Given the description of an element on the screen output the (x, y) to click on. 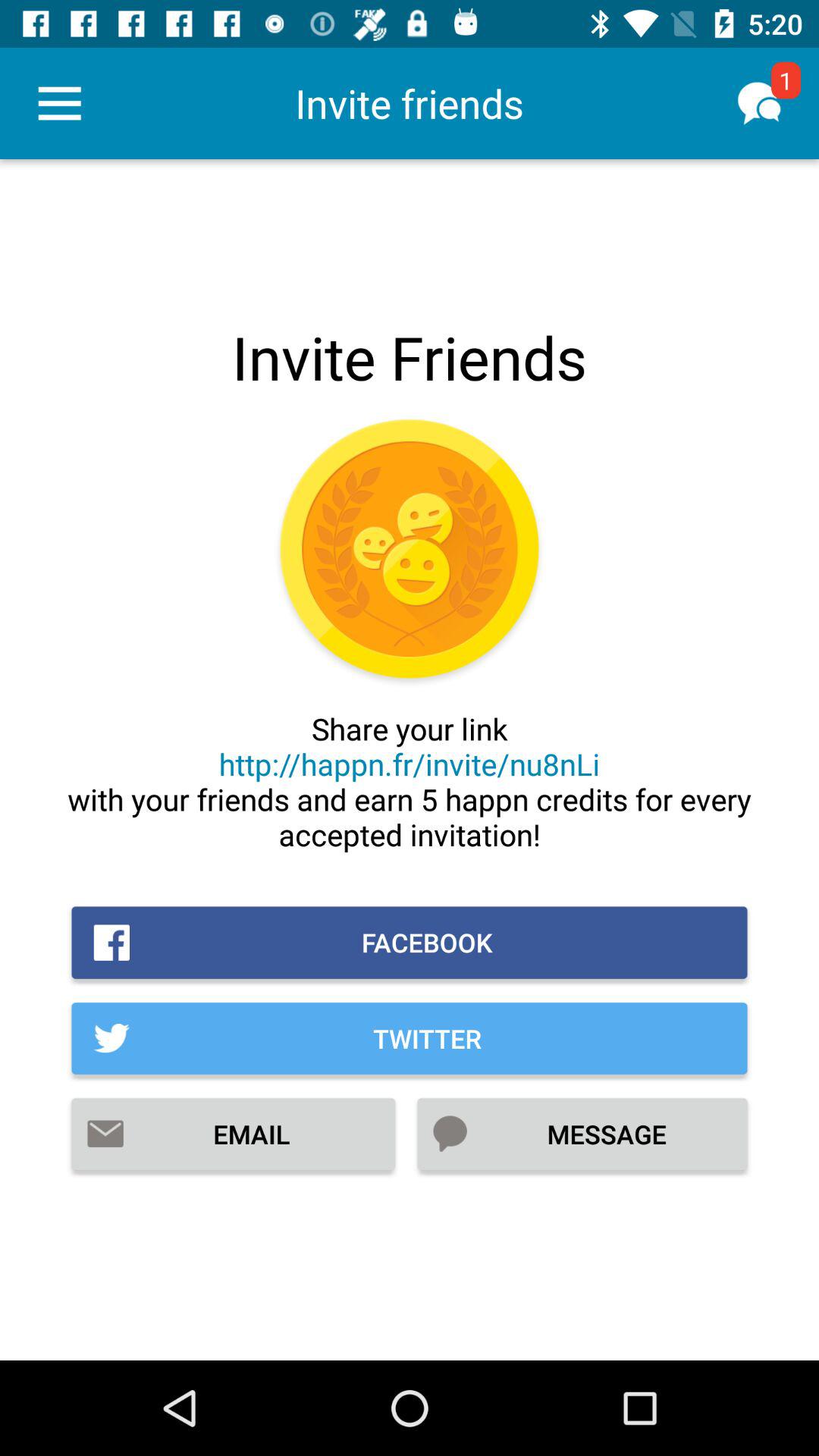
click email item (233, 1133)
